Given the description of an element on the screen output the (x, y) to click on. 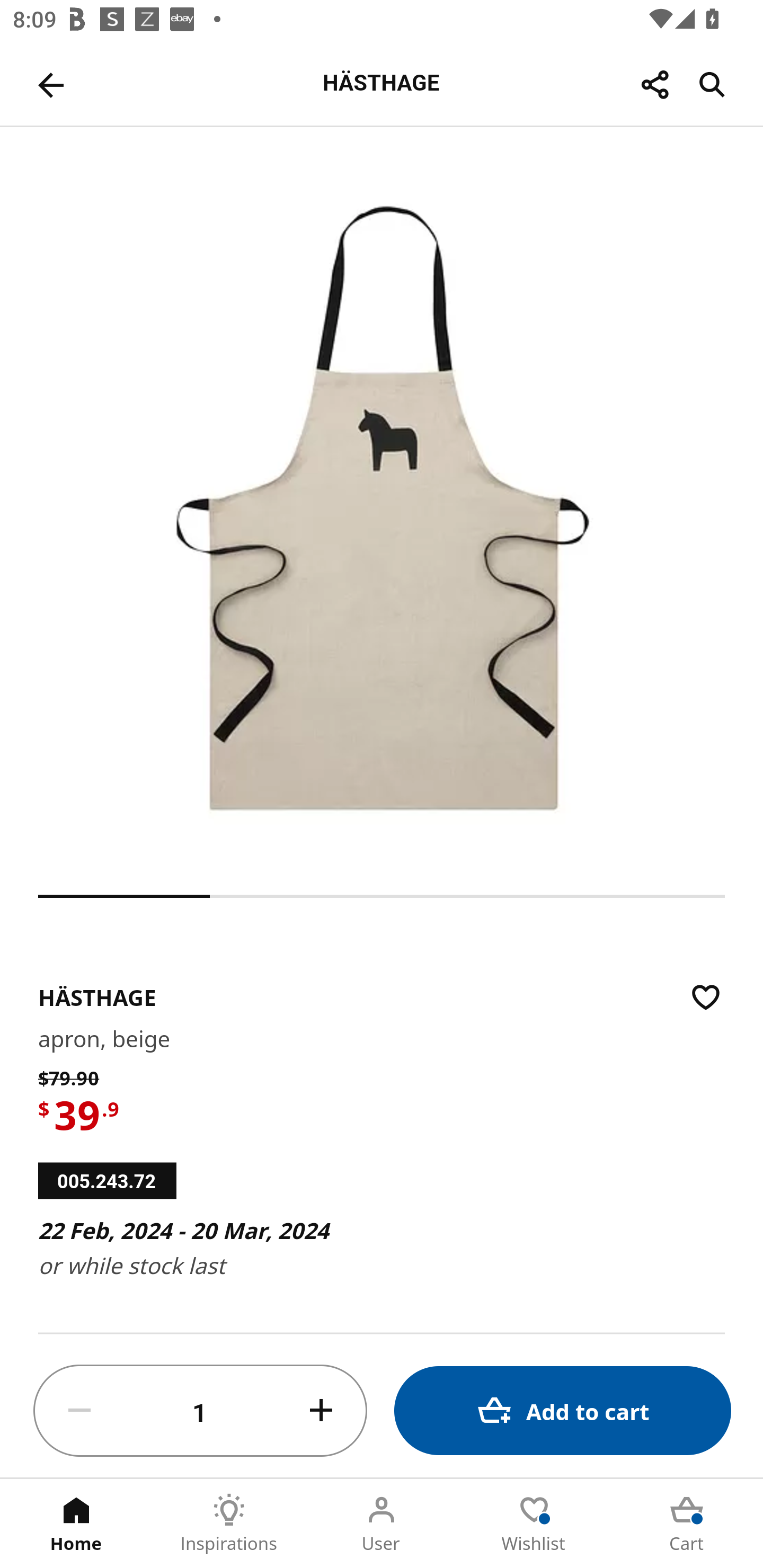
Add to cart (562, 1410)
1 (200, 1411)
Home
Tab 1 of 5 (76, 1522)
Inspirations
Tab 2 of 5 (228, 1522)
User
Tab 3 of 5 (381, 1522)
Wishlist
Tab 4 of 5 (533, 1522)
Cart
Tab 5 of 5 (686, 1522)
